Given the description of an element on the screen output the (x, y) to click on. 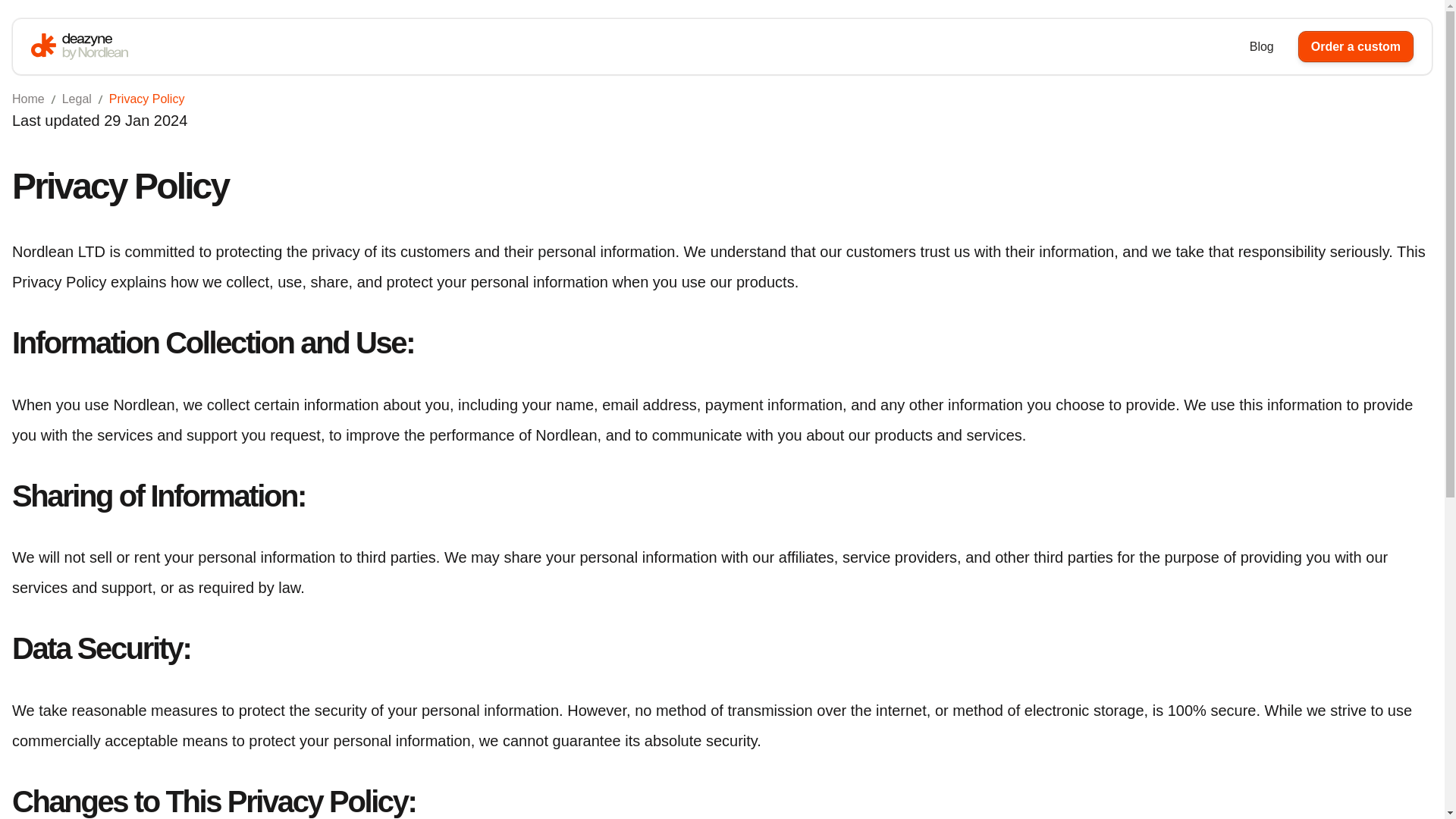
Privacy Policy (146, 99)
Blog (1261, 46)
Order a custom (1355, 46)
Legal (76, 99)
Home (28, 99)
